Given the description of an element on the screen output the (x, y) to click on. 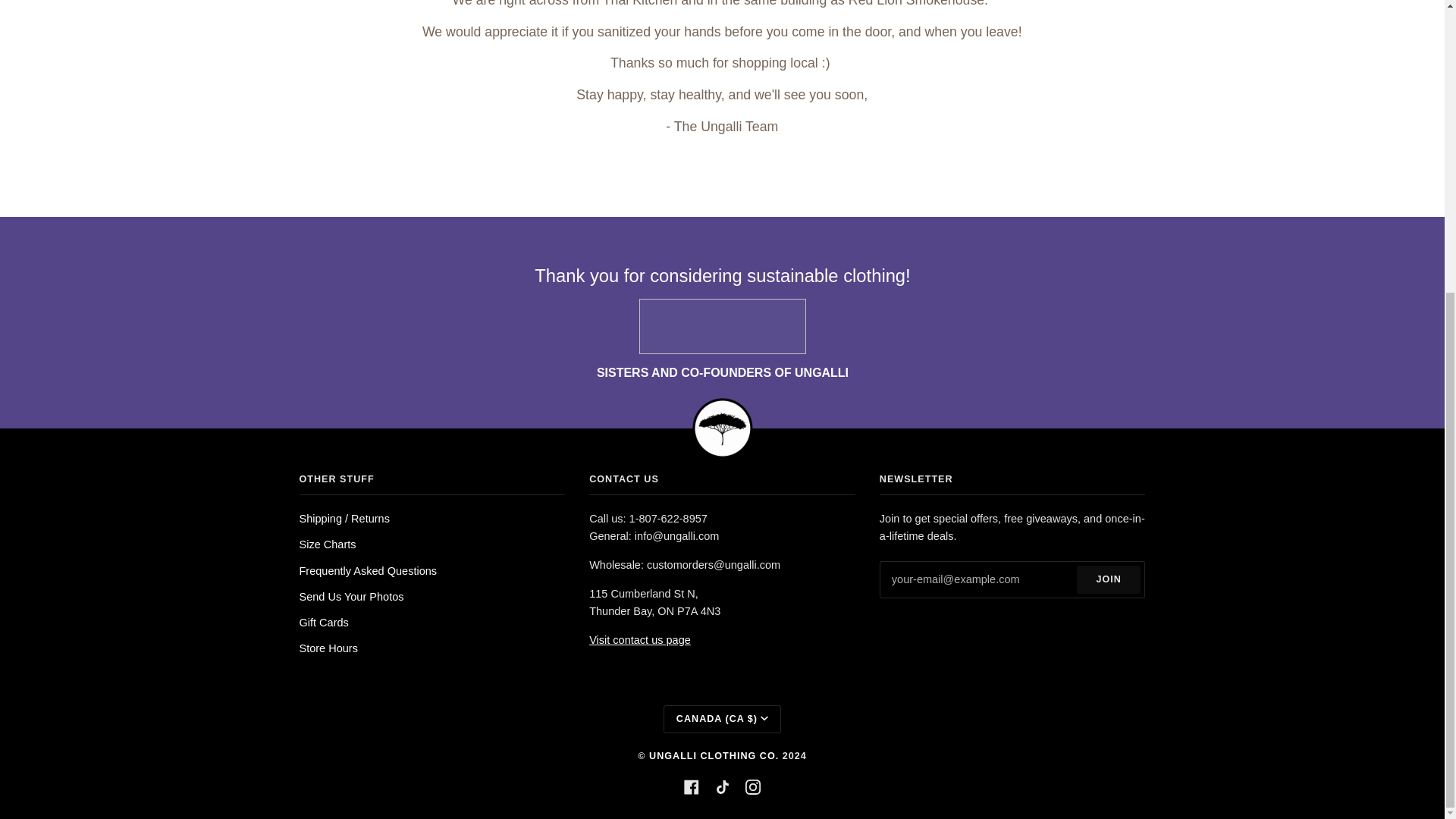
Instagram (752, 786)
Facebook (691, 786)
Tiktok (721, 786)
